Given the description of an element on the screen output the (x, y) to click on. 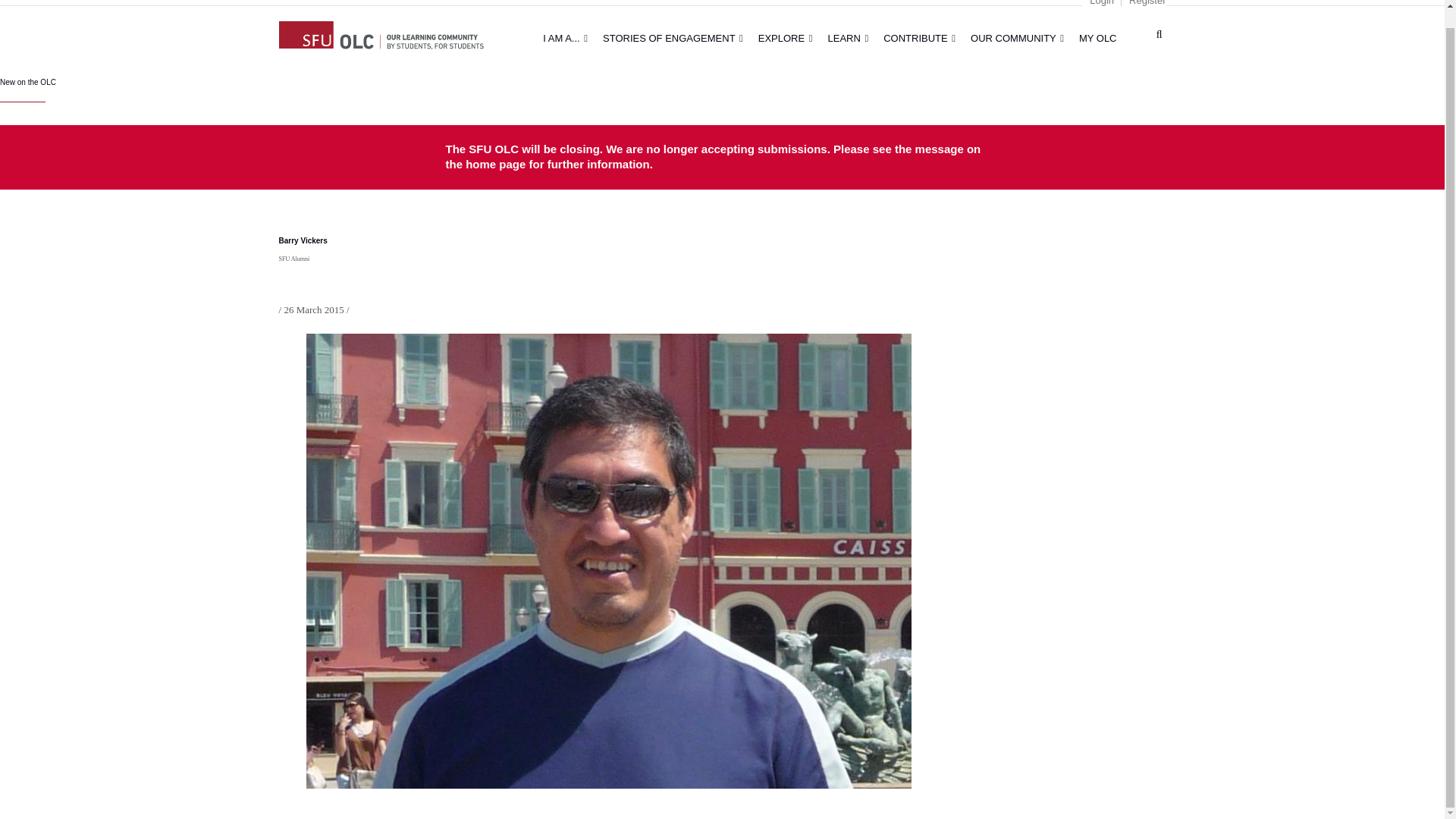
OUR COMMUNITY (1016, 37)
EXPLORE (786, 37)
LEARN (848, 37)
I AM A... (565, 37)
Register (1147, 2)
CONTRIBUTE (919, 37)
Home (381, 32)
Login (1101, 2)
STORIES OF ENGAGEMENT (673, 37)
